Given the description of an element on the screen output the (x, y) to click on. 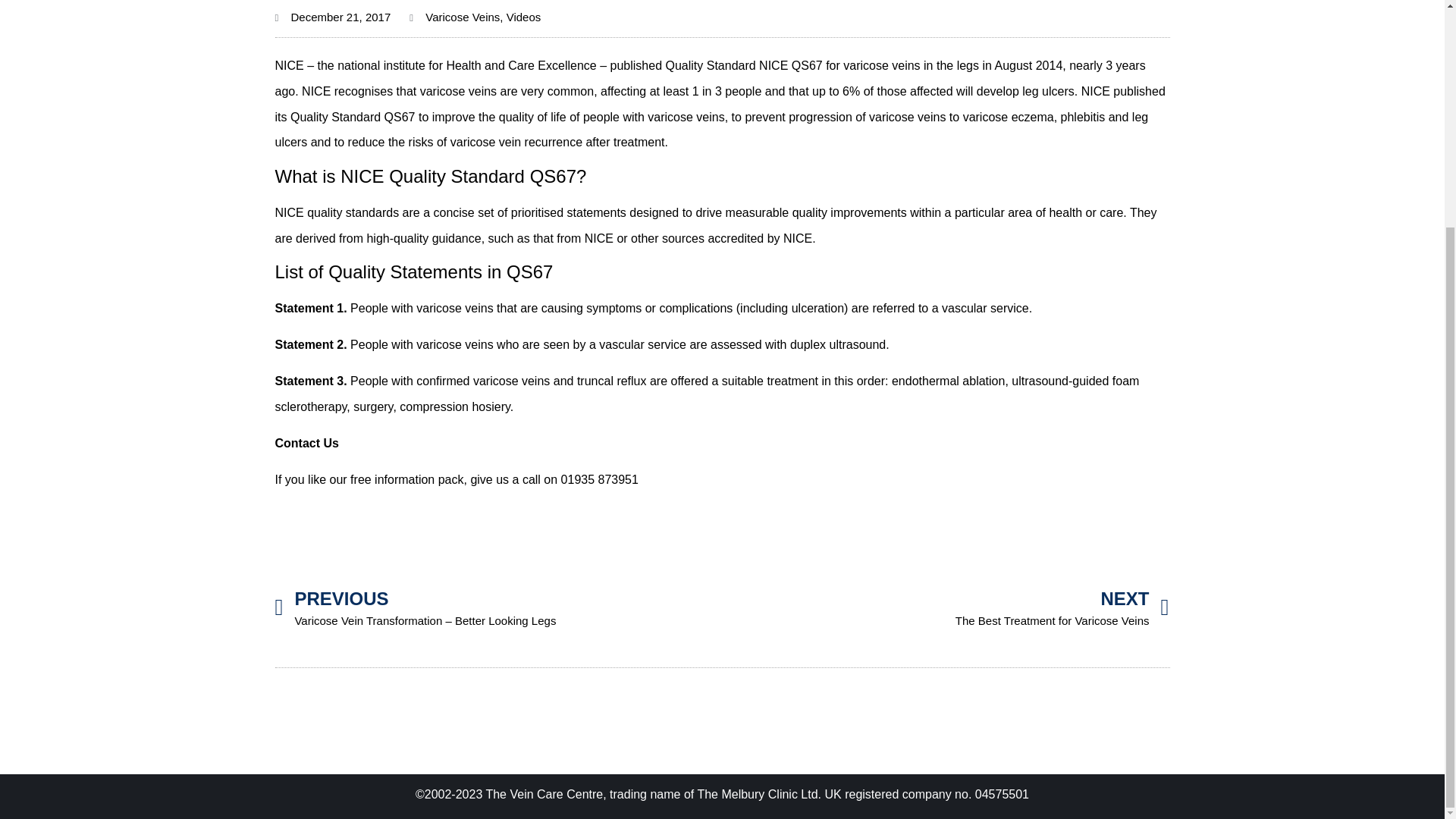
Videos (523, 16)
Varicose Veins (462, 16)
December 21, 2017 (945, 607)
